Given the description of an element on the screen output the (x, y) to click on. 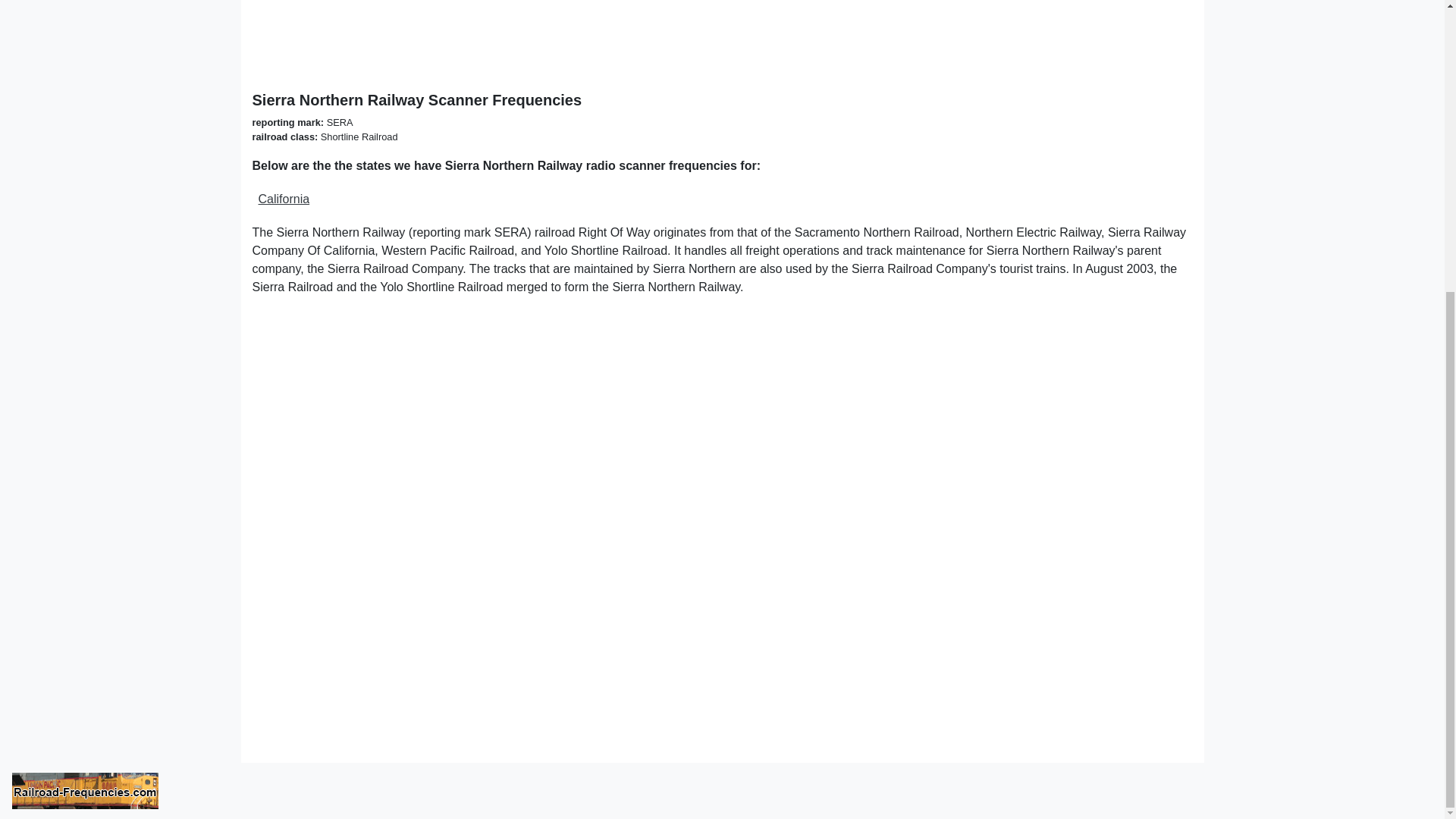
California (282, 198)
Sierra Northern Railway Radio Frequencies (721, 99)
Advertisement (706, 36)
